Given the description of an element on the screen output the (x, y) to click on. 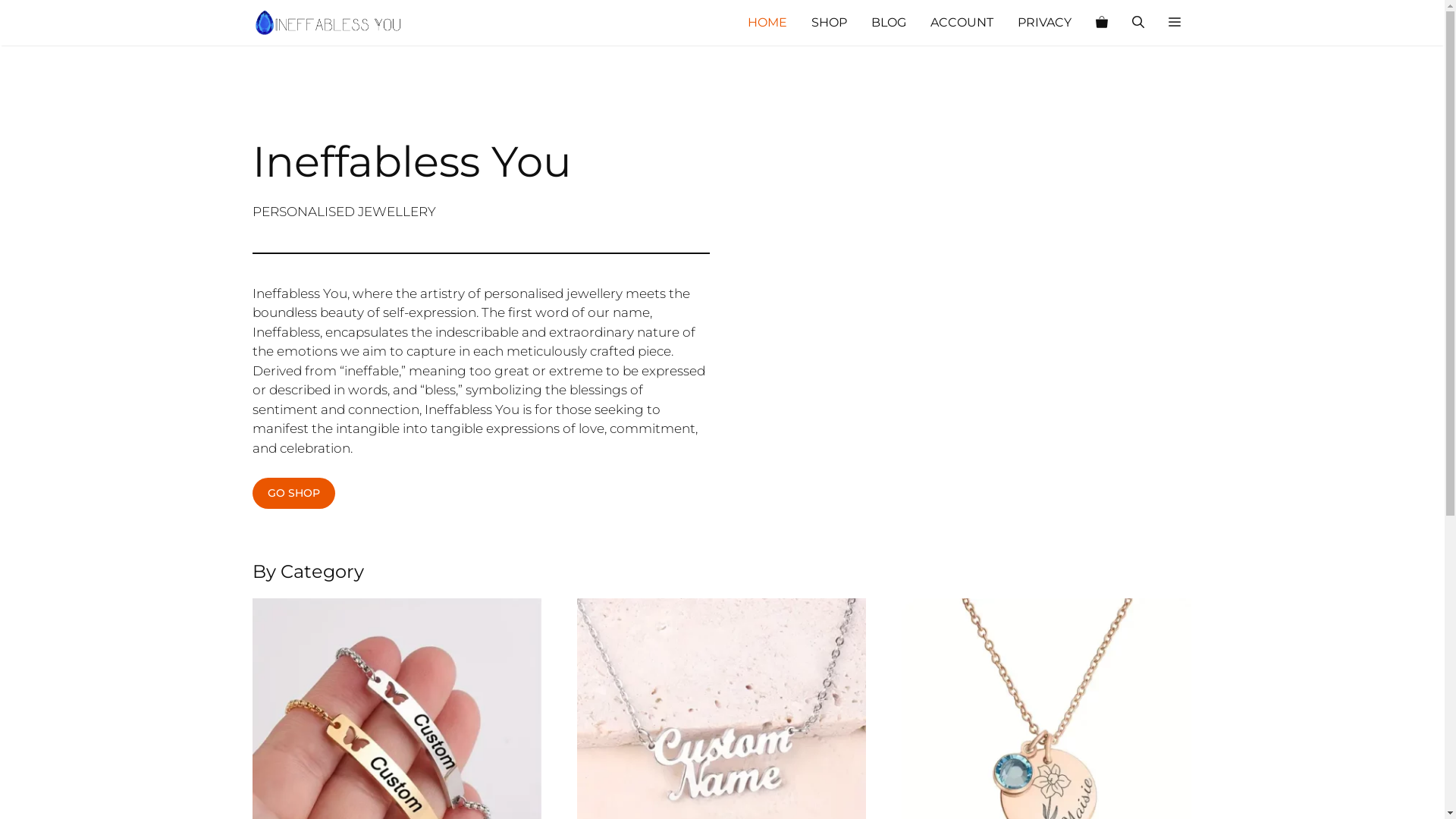
GO SHOP Element type: text (292, 492)
Ineffabless You Element type: hover (327, 22)
BLOG Element type: text (887, 22)
PRIVACY Element type: text (1044, 22)
HOME Element type: text (767, 22)
ACCOUNT Element type: text (960, 22)
SHOP Element type: text (829, 22)
View your shopping cart Element type: hover (1100, 22)
